Given the description of an element on the screen output the (x, y) to click on. 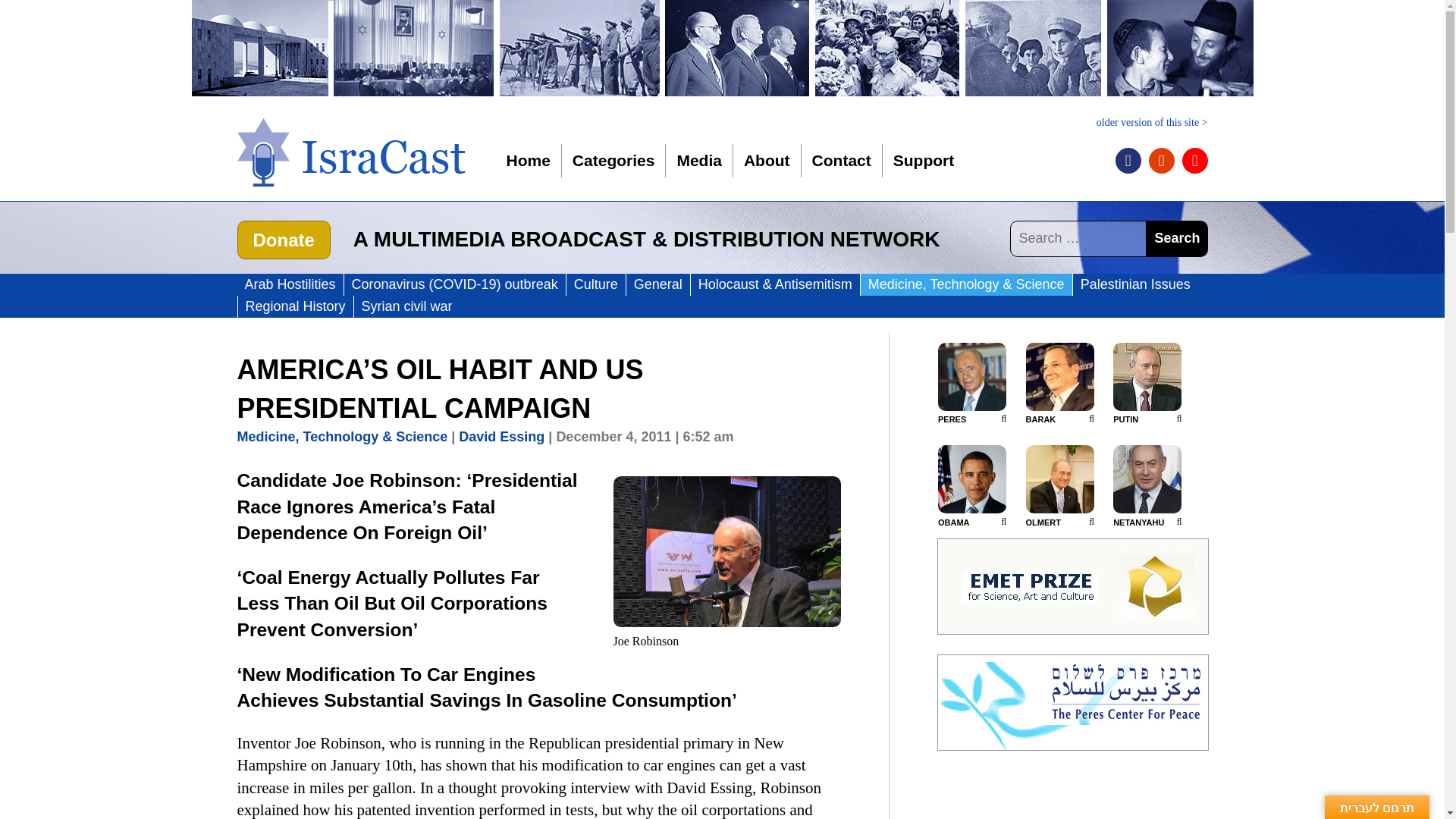
Support (923, 160)
About (766, 160)
Donate (282, 240)
Contact (841, 160)
Media (698, 160)
Home (527, 160)
Palestinian Issues (1135, 284)
youtube (1193, 160)
Culture (596, 284)
Regional History (295, 306)
facebook (1127, 160)
Search (1177, 238)
Syrian civil war (406, 306)
soundcloud (1160, 160)
Categories (614, 160)
